Given the description of an element on the screen output the (x, y) to click on. 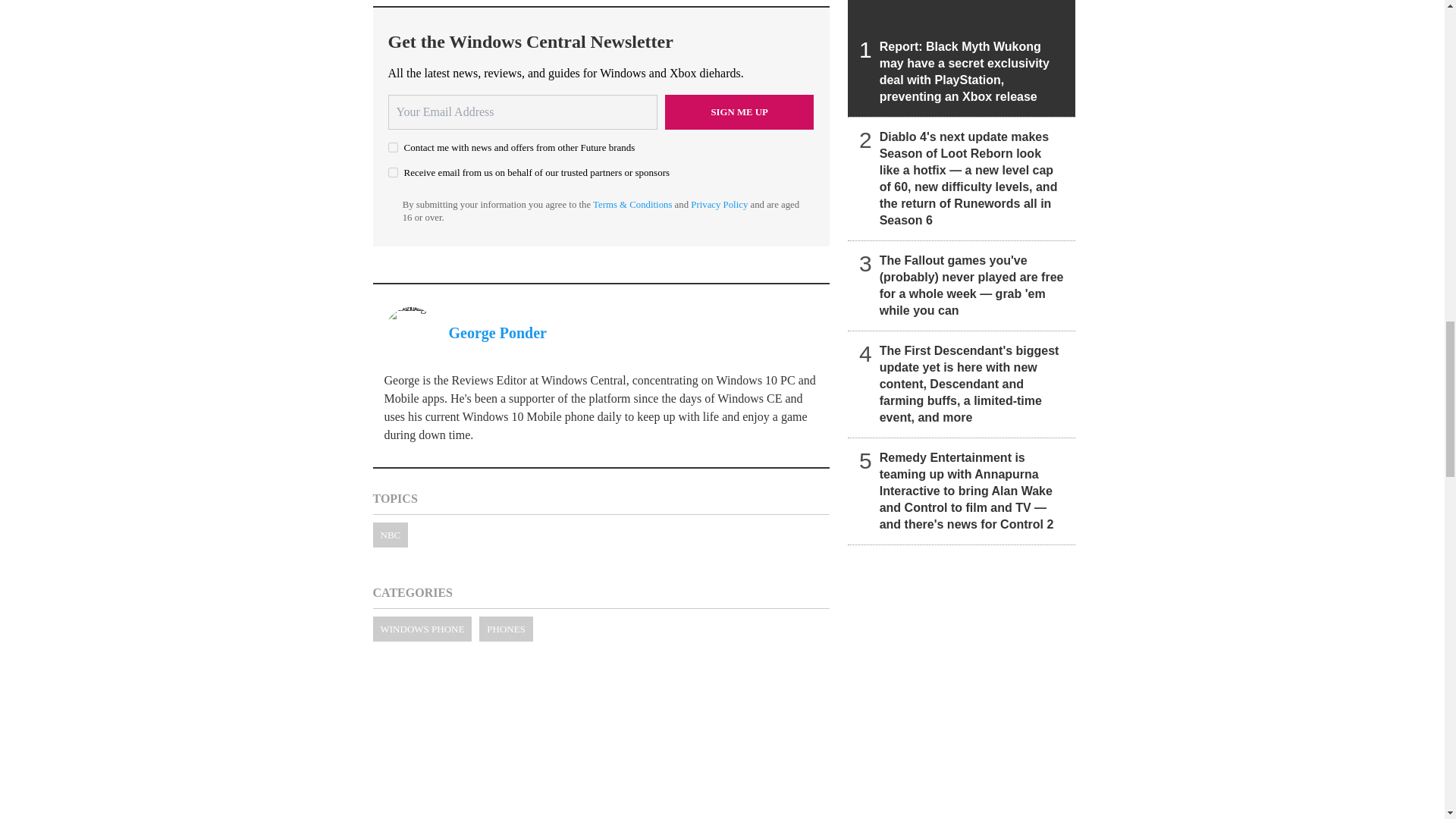
Sign me up (739, 112)
NBC (390, 534)
on (392, 147)
Sign me up (739, 112)
George Ponder (497, 332)
Privacy Policy (719, 204)
on (392, 172)
